Given the description of an element on the screen output the (x, y) to click on. 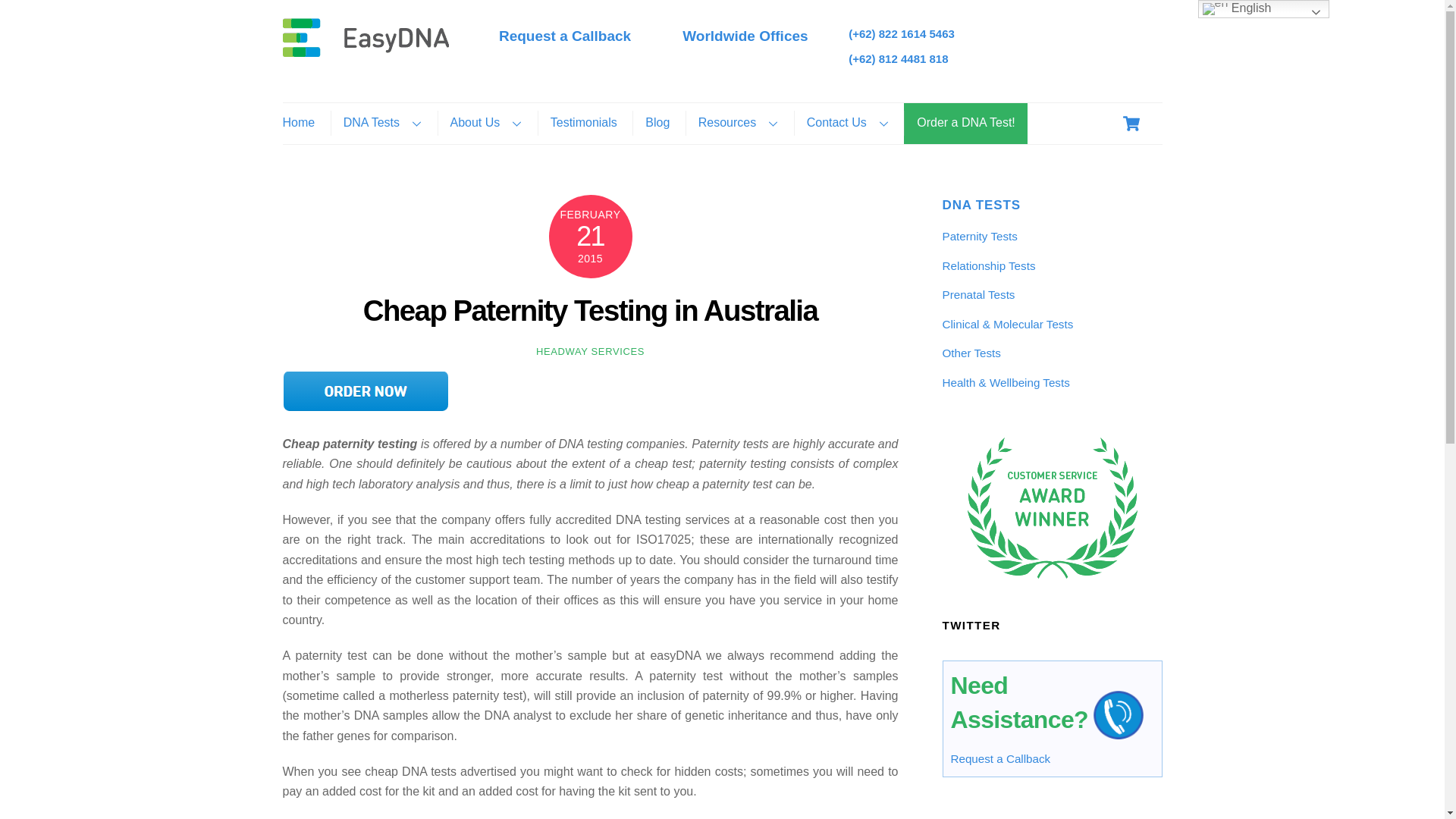
DNA Tests (381, 123)
Home (304, 123)
EasyDNA ID (365, 49)
Cart (1131, 123)
easydna-logo (365, 37)
